Given the description of an element on the screen output the (x, y) to click on. 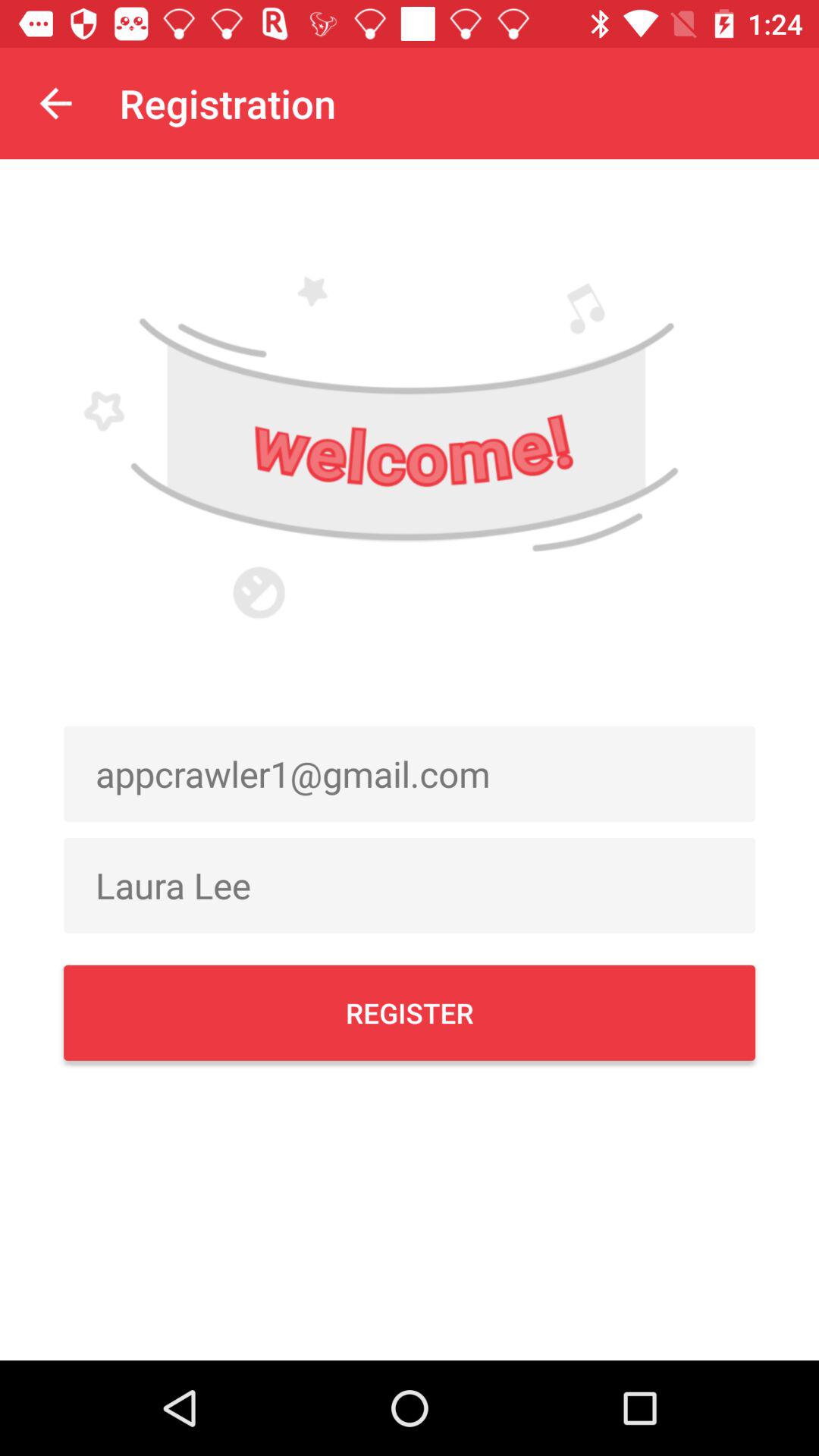
launch the item below the laura lee icon (409, 1012)
